Given the description of an element on the screen output the (x, y) to click on. 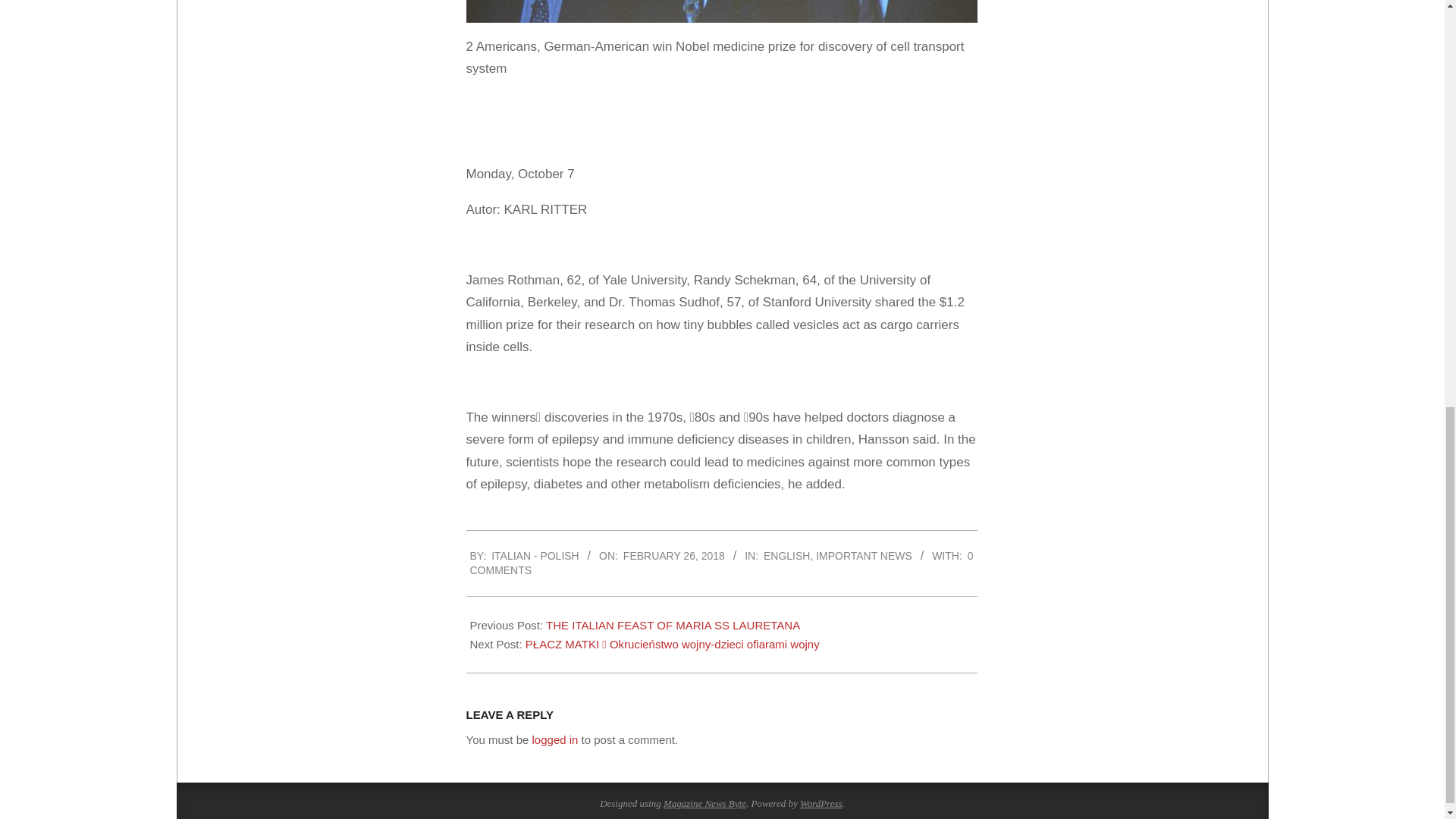
IMPORTANT NEWS (863, 555)
ENGLISH (785, 555)
Posts by Italian - Polish (535, 555)
0 COMMENTS (722, 562)
Magazine News Byte WordPress Theme (704, 803)
THE ITALIAN FEAST OF MARIA SS LAURETANA (672, 625)
Monday, February 26, 2018, 3:03 pm (674, 555)
logged in (555, 739)
Magazine News Byte (704, 803)
ITALIAN - POLISH (535, 555)
